Given the description of an element on the screen output the (x, y) to click on. 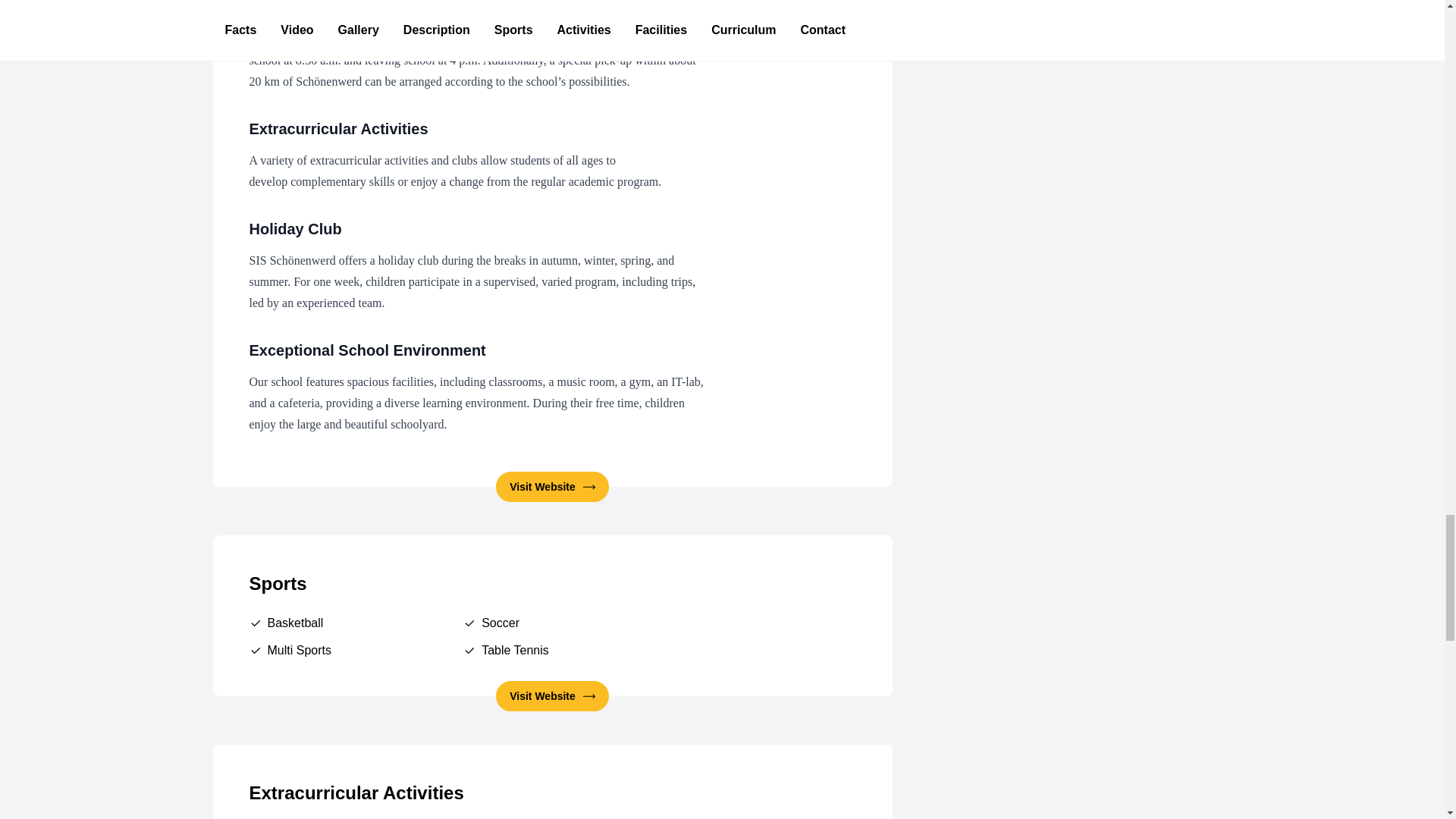
Visit Website (552, 486)
Visit Website (552, 695)
